Given the description of an element on the screen output the (x, y) to click on. 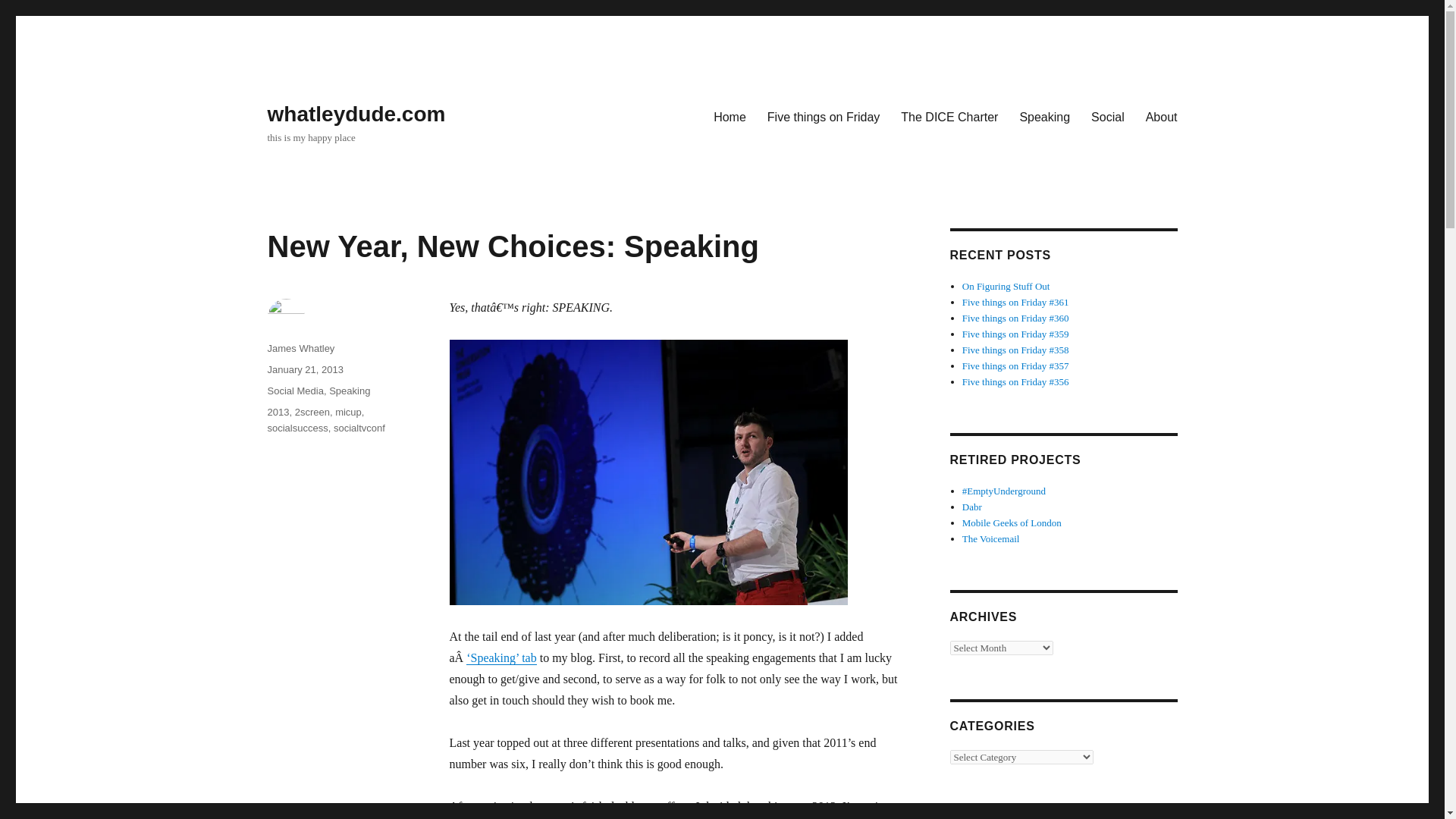
Speaking (1044, 116)
Five things on Friday (824, 116)
James Whatley (300, 348)
whatleydude.com (355, 114)
micup (347, 411)
socialsuccess (296, 428)
About (1161, 116)
Social Media (294, 390)
Social (1107, 116)
2screen (312, 411)
January 21, 2013 (304, 369)
The DICE Charter (949, 116)
Home (730, 116)
2013 (277, 411)
